Given the description of an element on the screen output the (x, y) to click on. 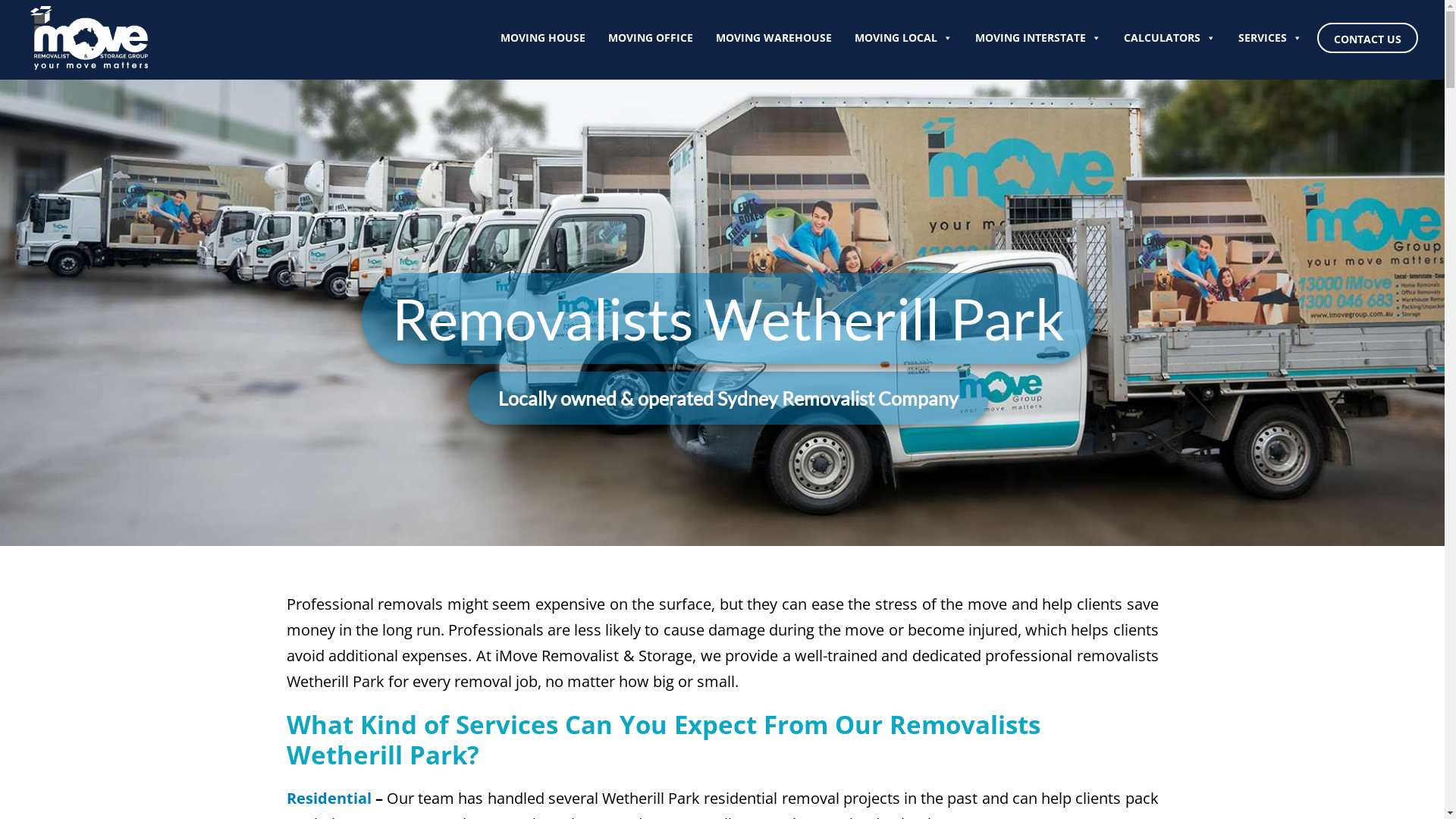
MOVING OFFICE Element type: text (650, 37)
MOVING HOUSE Element type: text (542, 37)
MOVING WAREHOUSE Element type: text (773, 37)
CALCULATORS Element type: text (1169, 37)
MOVING INTERSTATE Element type: text (1037, 37)
CONTACT US Element type: text (1367, 37)
SERVICES Element type: text (1269, 37)
Residential Element type: text (328, 797)
MOVING LOCAL Element type: text (903, 37)
